Given the description of an element on the screen output the (x, y) to click on. 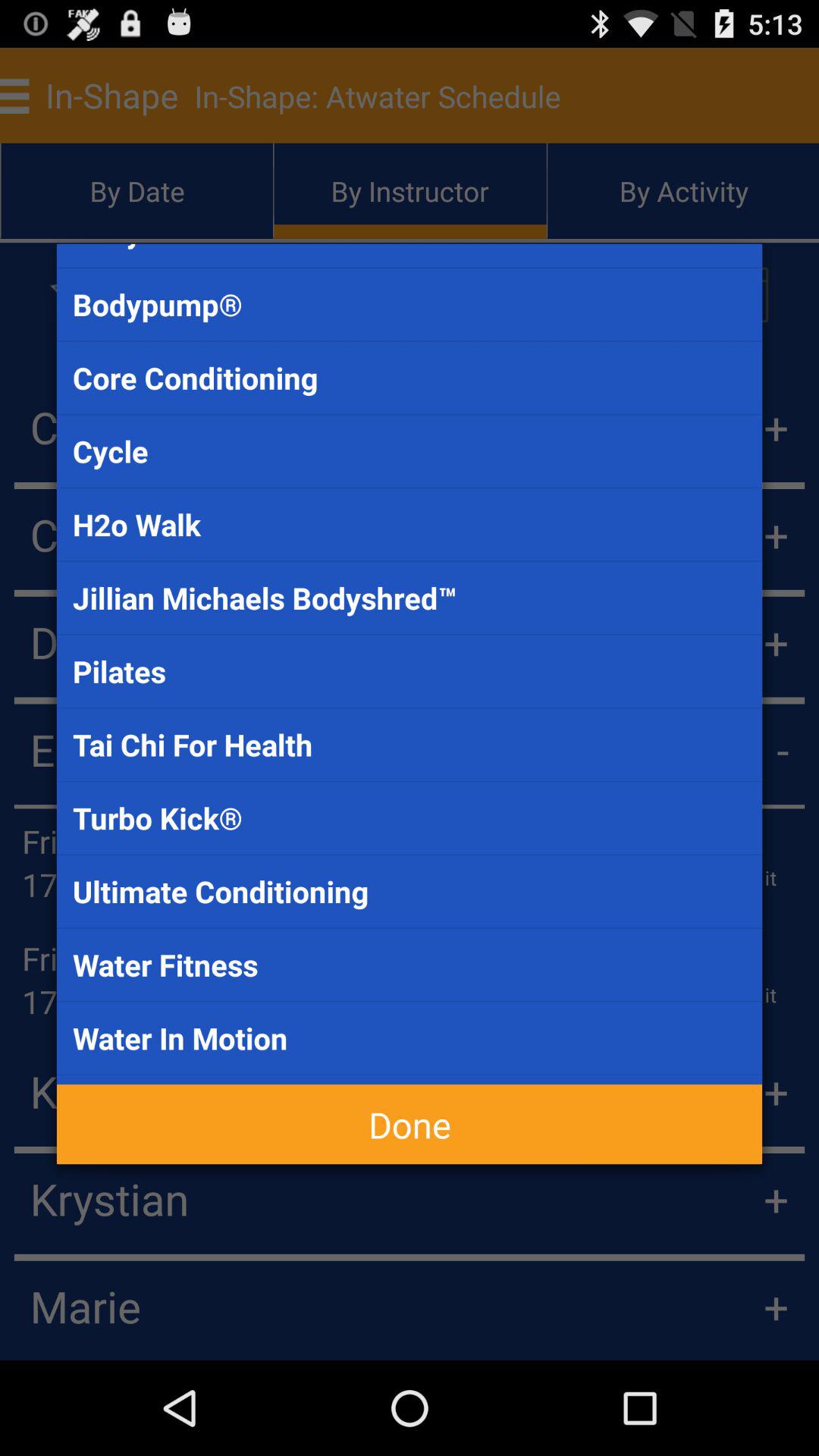
click the app below yoga item (409, 1124)
